Given the description of an element on the screen output the (x, y) to click on. 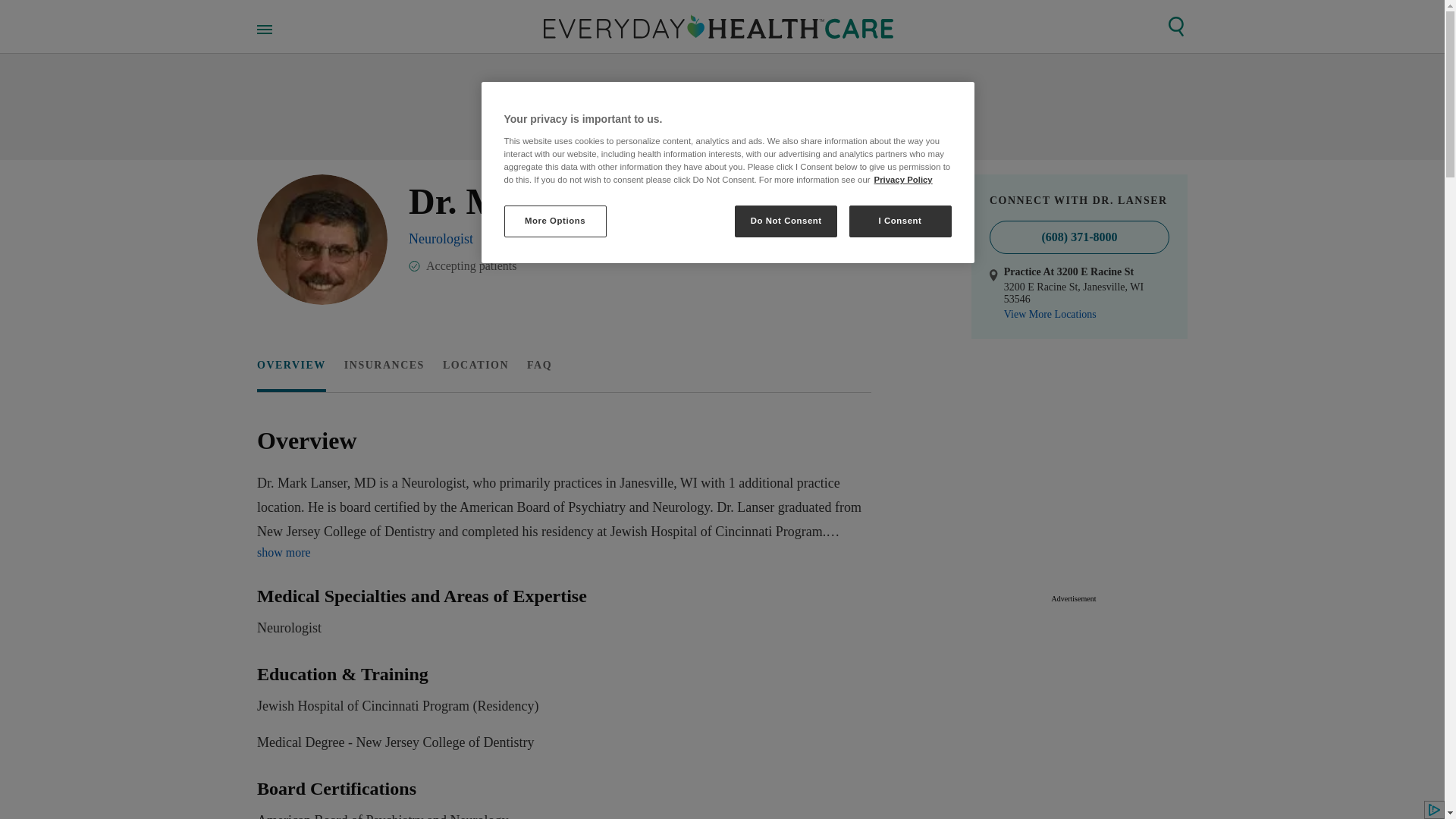
Neurologist (441, 238)
OVERVIEW (291, 365)
INSURANCES (560, 612)
LOCATION (384, 365)
View More Locations (475, 365)
